Given the description of an element on the screen output the (x, y) to click on. 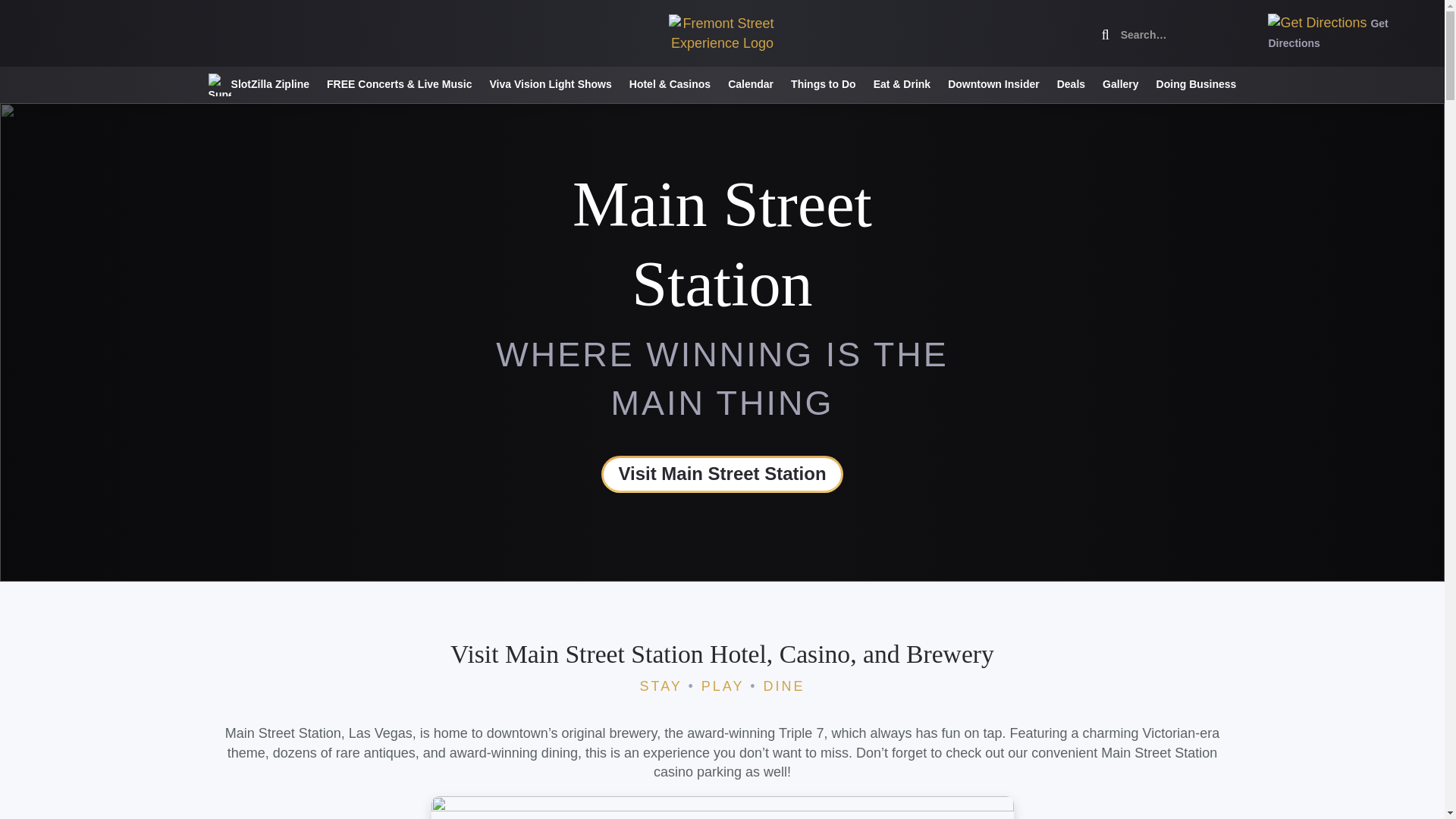
SlotZilla Zipline (258, 84)
Get Directions (1327, 32)
